Given the description of an element on the screen output the (x, y) to click on. 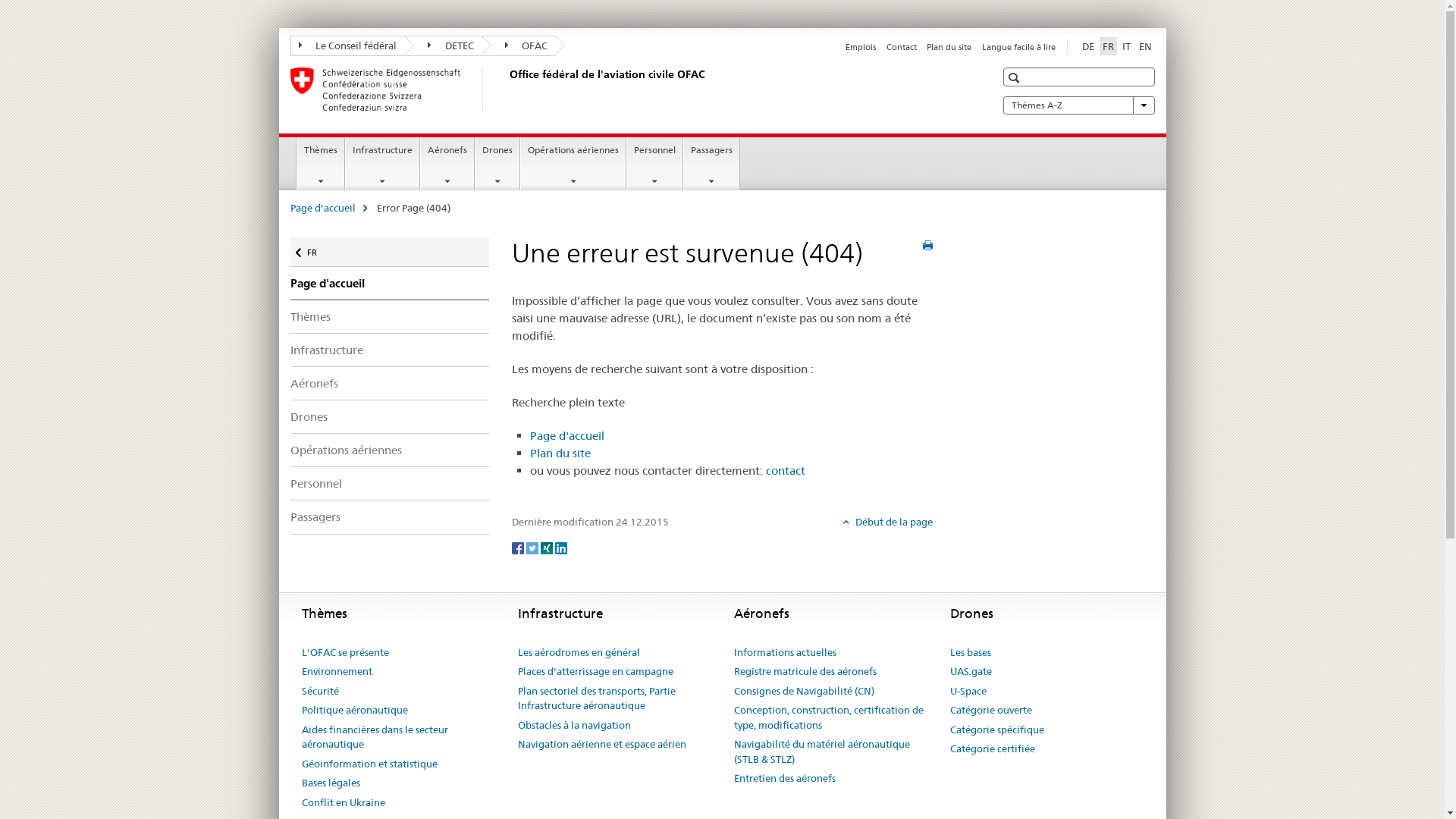
Environnement Element type: text (336, 671)
DE Element type: text (1087, 46)
Personnel Element type: text (654, 163)
IT Element type: text (1126, 46)
Personnel Element type: text (389, 483)
Conflit en Ukraine Element type: text (343, 802)
Infrastructure Element type: text (382, 163)
Page d'accueil Element type: text (389, 283)
UAS.gate Element type: text (970, 671)
Infrastructure Element type: text (389, 349)
Page d'accueil Element type: text (321, 207)
Plan du site Element type: text (948, 46)
Contact Element type: text (901, 46)
Page d'accueil Element type: text (566, 435)
Passagers Element type: text (389, 516)
Drones Element type: text (389, 416)
Informations actuelles Element type: text (785, 652)
Emplois Element type: text (860, 46)
Les bases Element type: text (969, 652)
DETEC Element type: text (442, 45)
OFAC Element type: text (517, 45)
Passagers Element type: text (711, 163)
EN Element type: text (1144, 46)
Drones Element type: text (497, 163)
Retour
FR Element type: text (389, 251)
Imprimer cette page Element type: hover (927, 245)
contact Element type: text (785, 470)
U-Space Element type: text (967, 691)
Places d'atterrissage en campagne Element type: text (594, 671)
FR Element type: text (1108, 46)
Plan du site Element type: text (559, 452)
